Given the description of an element on the screen output the (x, y) to click on. 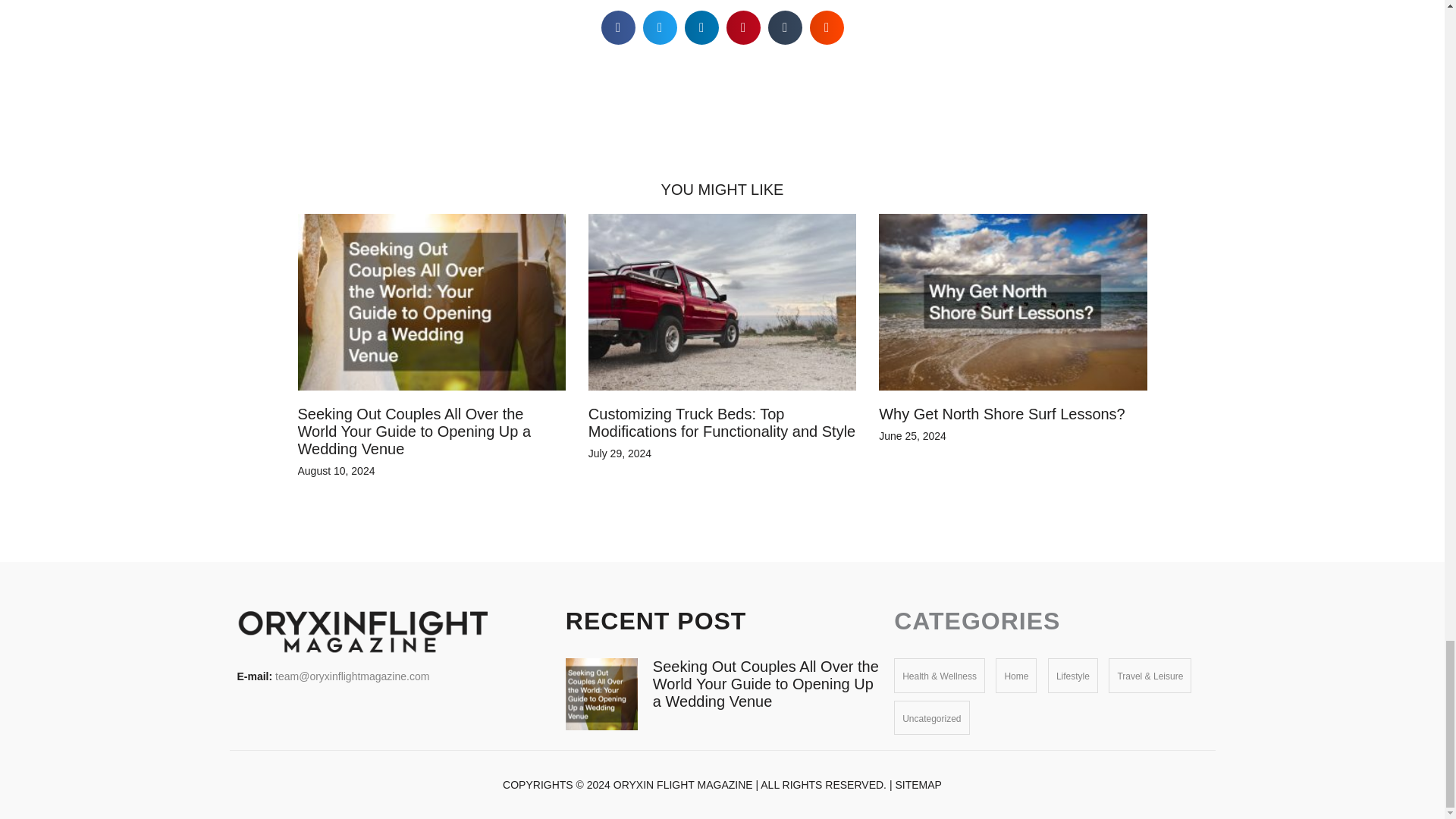
SITEMAP (917, 784)
Why Get North Shore Surf Lessons? (1002, 413)
Home (1015, 675)
Uncategorized (931, 718)
Lifestyle (1073, 675)
